Given the description of an element on the screen output the (x, y) to click on. 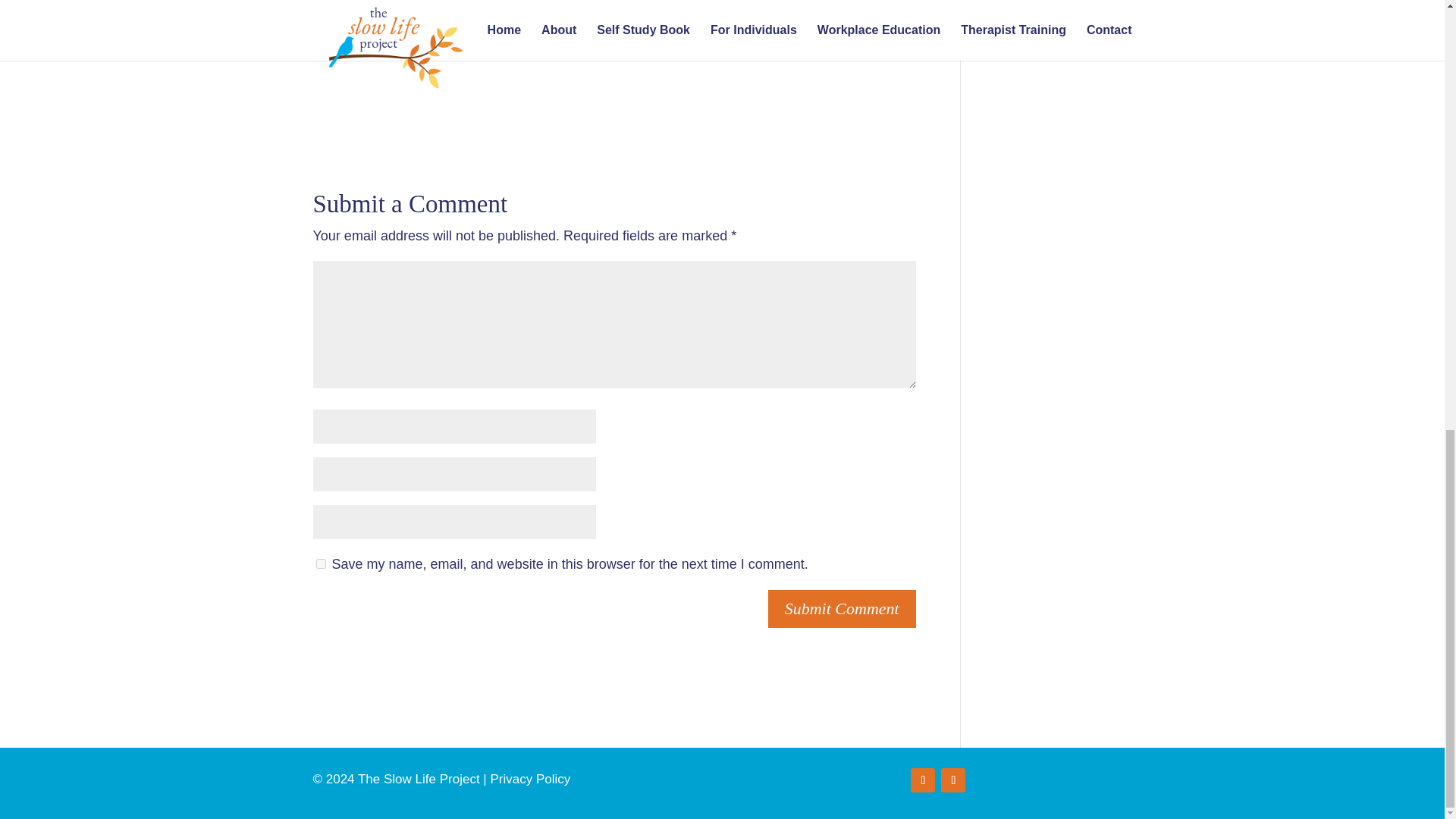
Submit Comment (841, 608)
Submit Comment (841, 608)
Follow on Instagram (952, 780)
Privacy Policy (529, 779)
The Slow Life Project (606, 4)
yes (319, 563)
Follow on Facebook (922, 780)
